Given the description of an element on the screen output the (x, y) to click on. 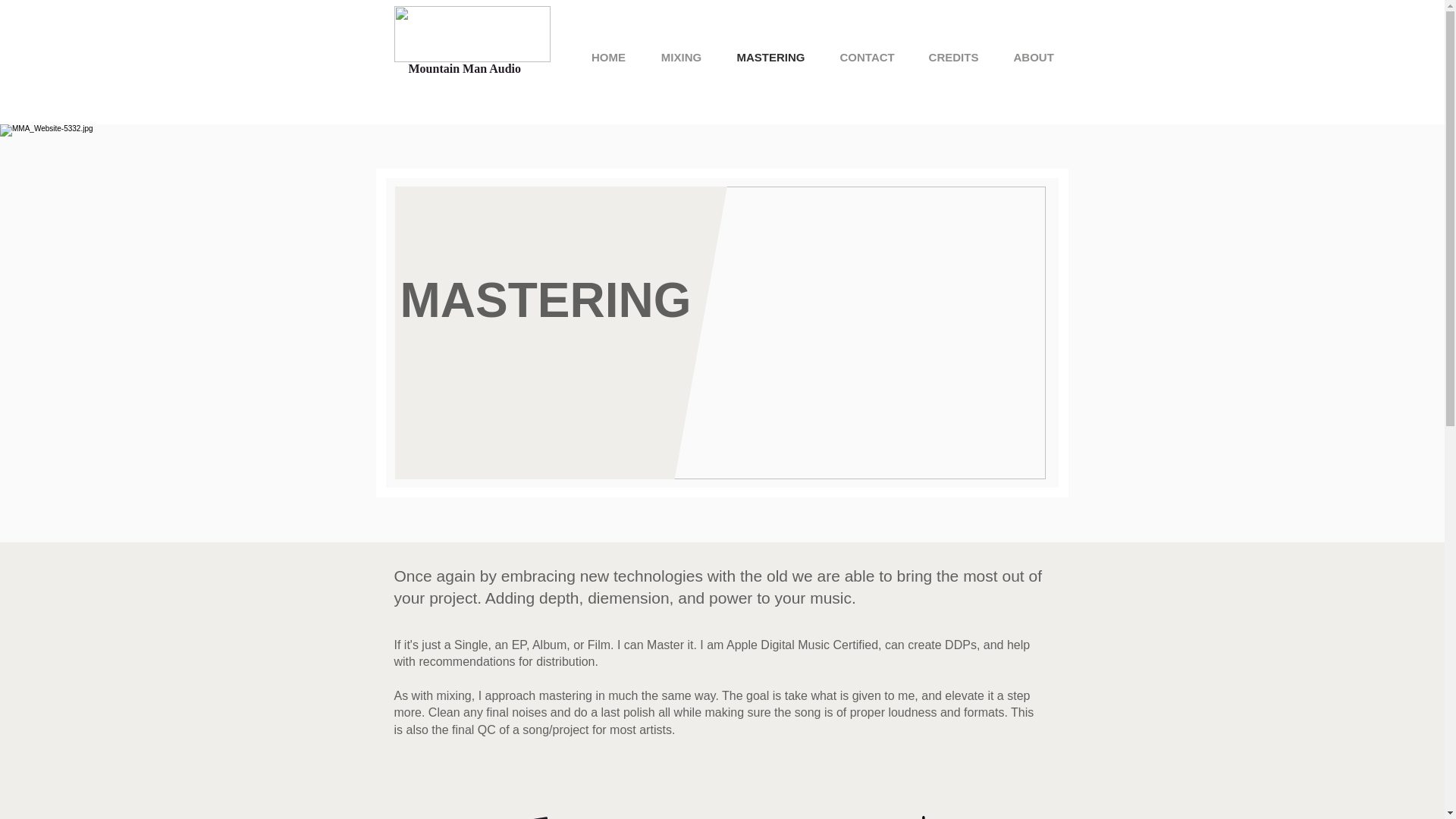
MASTERING (770, 56)
ABOUT (1032, 56)
Mountain Man Audio (463, 68)
MIXING (681, 56)
CONTACT (866, 56)
HOME (608, 56)
CREDITS (953, 56)
